Given the description of an element on the screen output the (x, y) to click on. 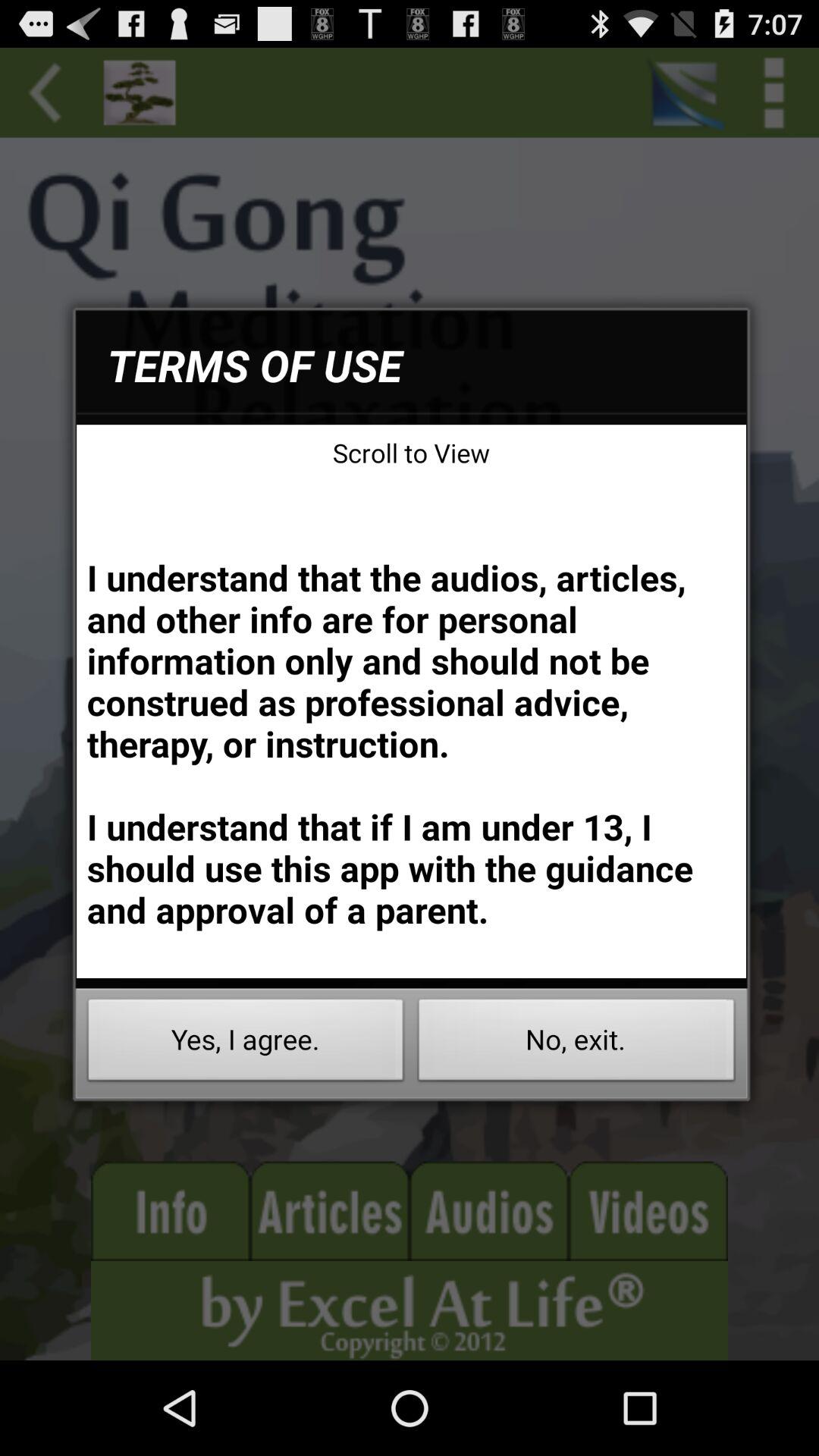
launch the icon below the i understand that app (576, 1044)
